Given the description of an element on the screen output the (x, y) to click on. 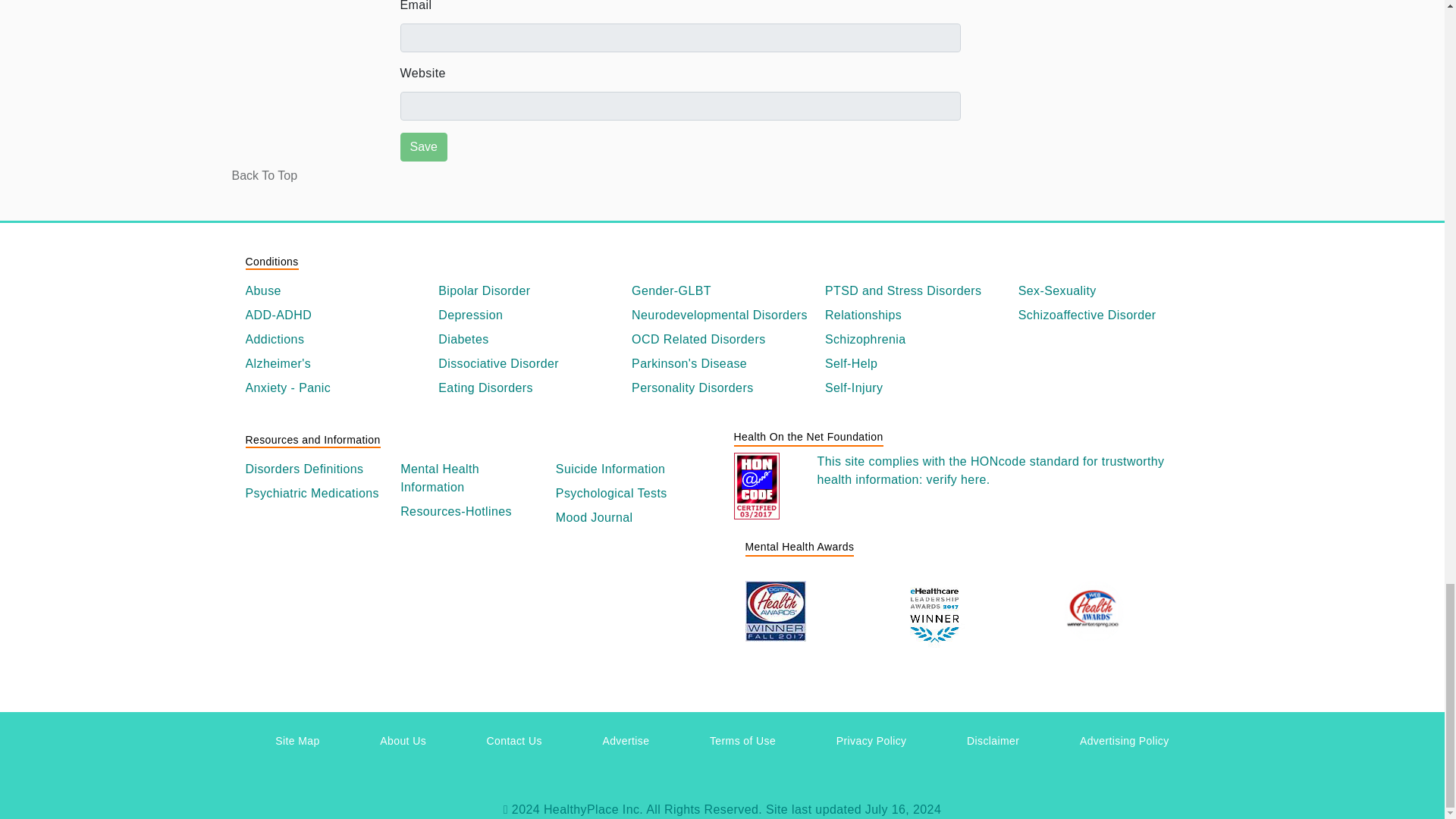
Parkinson's Disease Information Articles (721, 363)
